Given the description of an element on the screen output the (x, y) to click on. 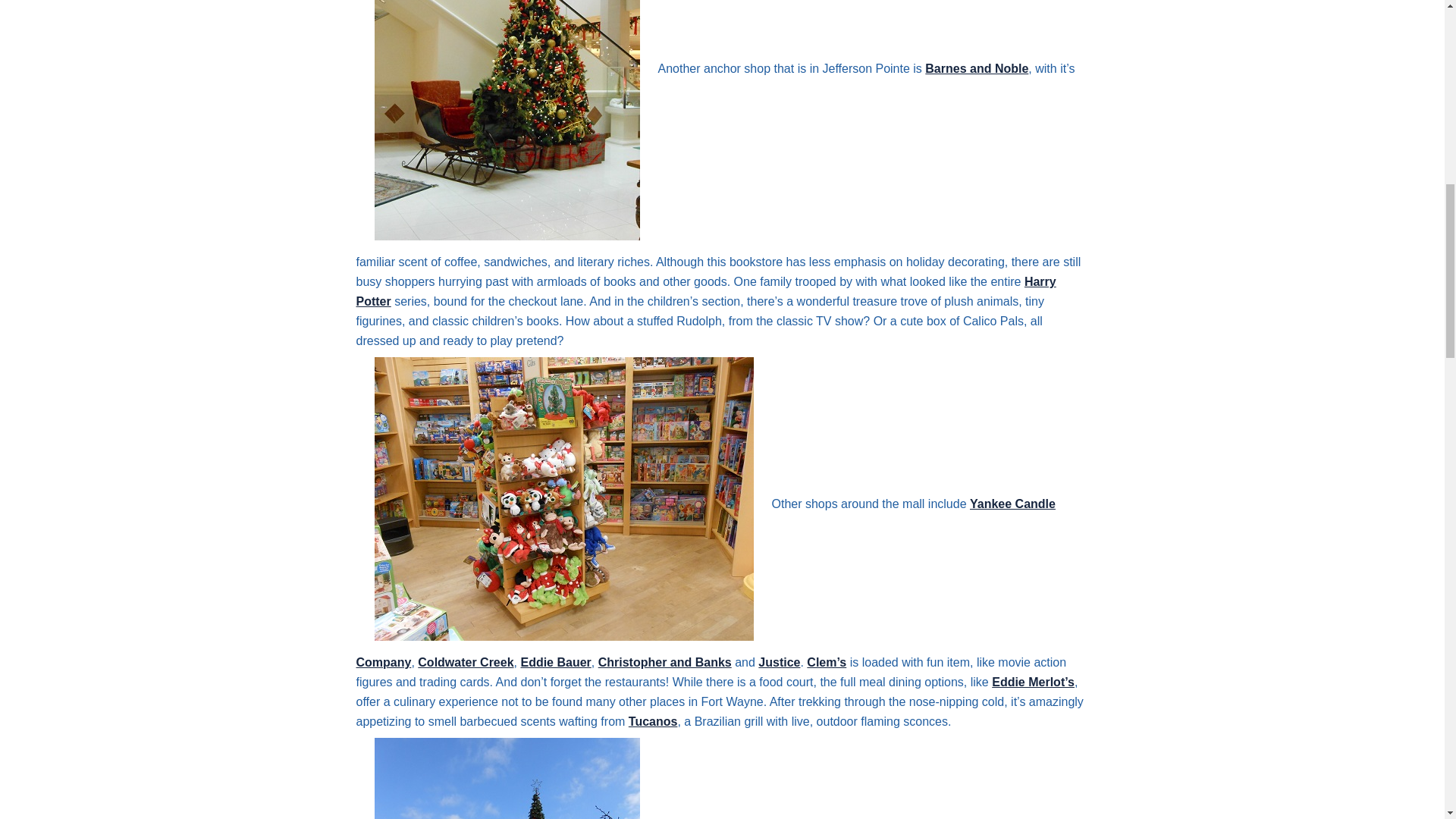
AtriumVonMaurSleigh (507, 120)
ToysBarnesandNoble (564, 498)
Giant Christmas (507, 778)
